Given the description of an element on the screen output the (x, y) to click on. 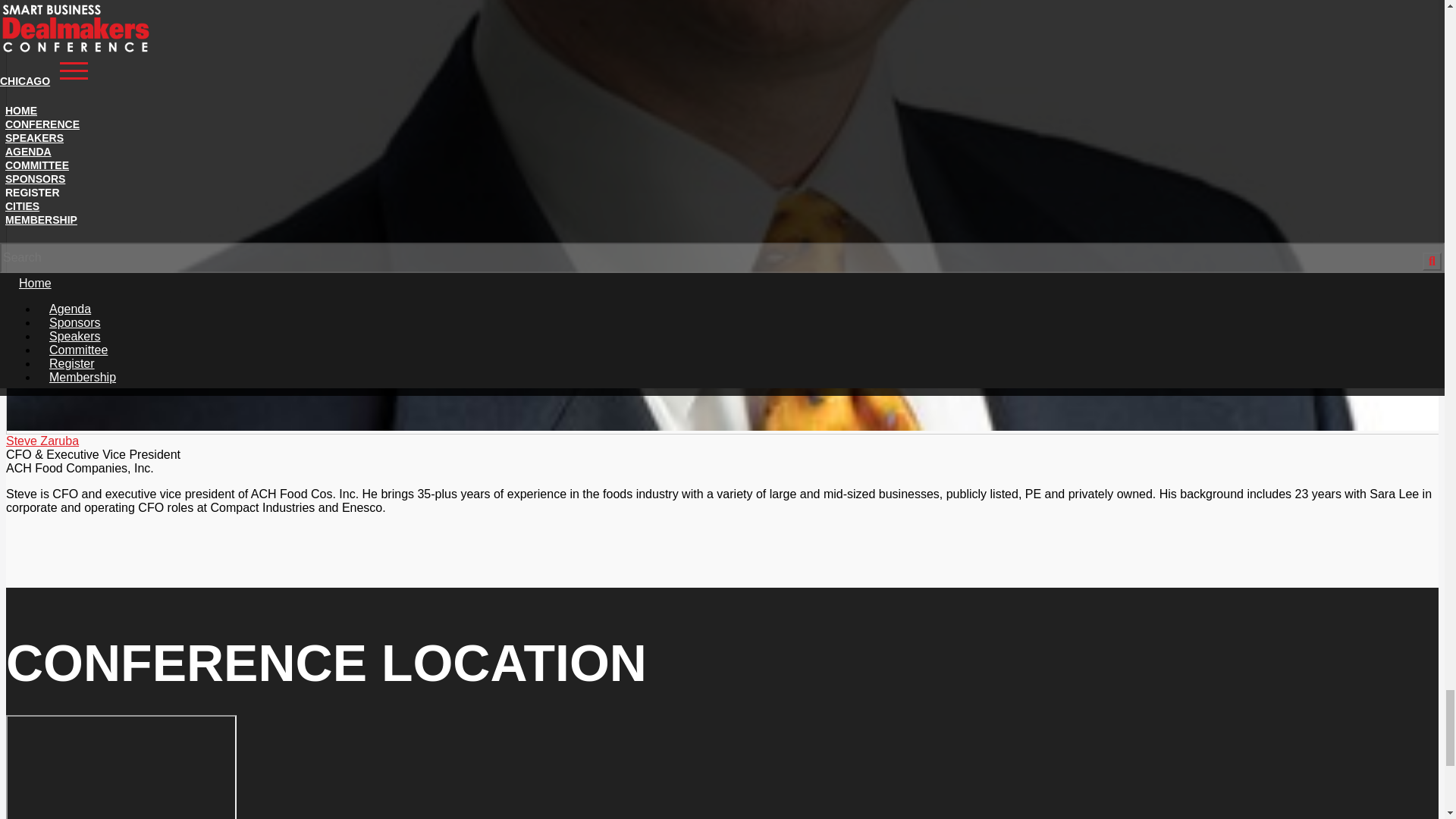
Palmer House HIlton (120, 766)
Steve Zaruba (41, 440)
